Given the description of an element on the screen output the (x, y) to click on. 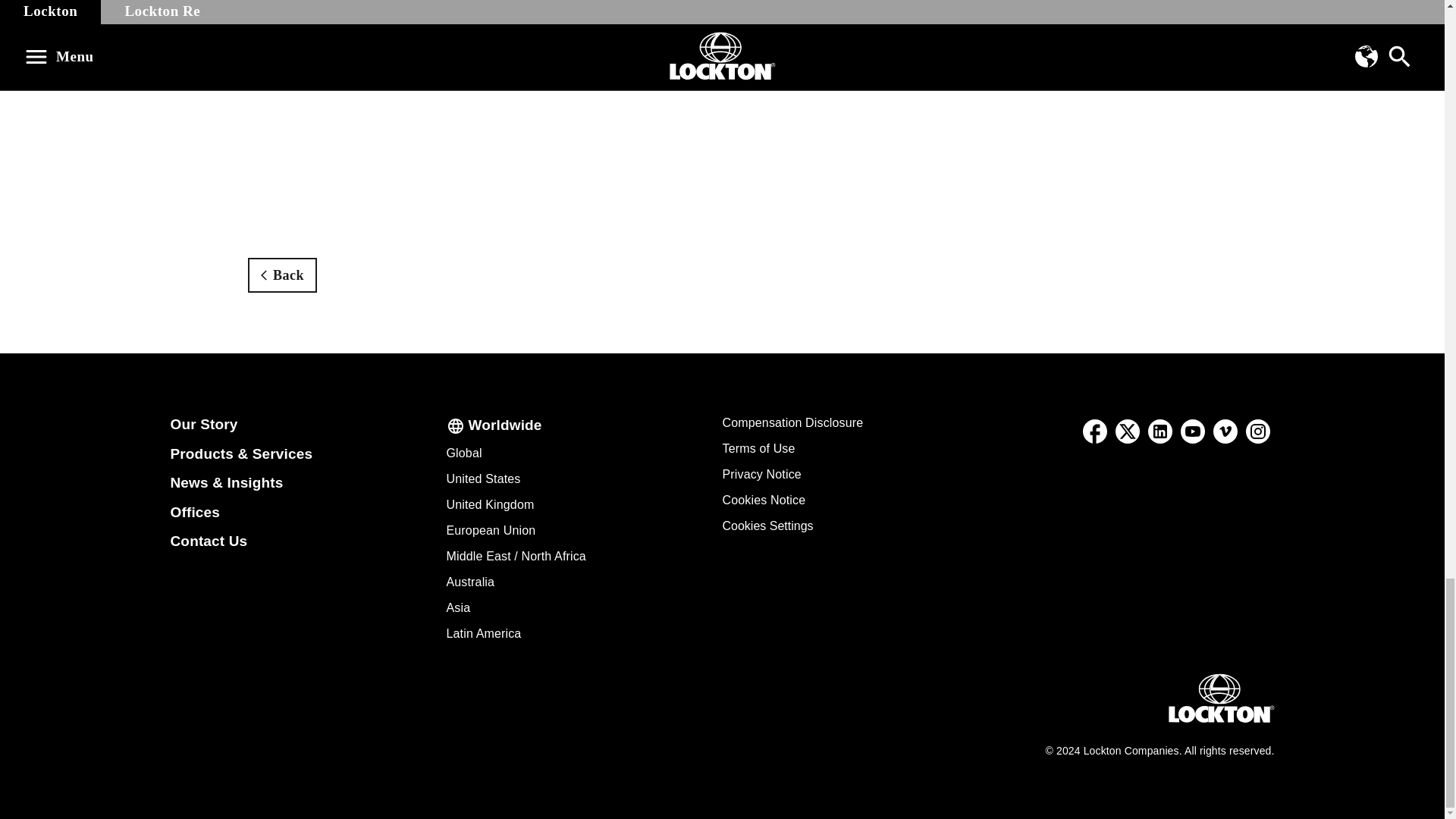
Contact Us (208, 540)
Follow Lockton on Twitter (1128, 431)
Follow Lockton on Twitter (1127, 431)
Follow Lockton on Instagram (1257, 431)
Follow Lockton on Vimeo (1224, 431)
Global (463, 452)
Our Story (203, 424)
Australia (470, 581)
United Kingdom (489, 504)
